Given the description of an element on the screen output the (x, y) to click on. 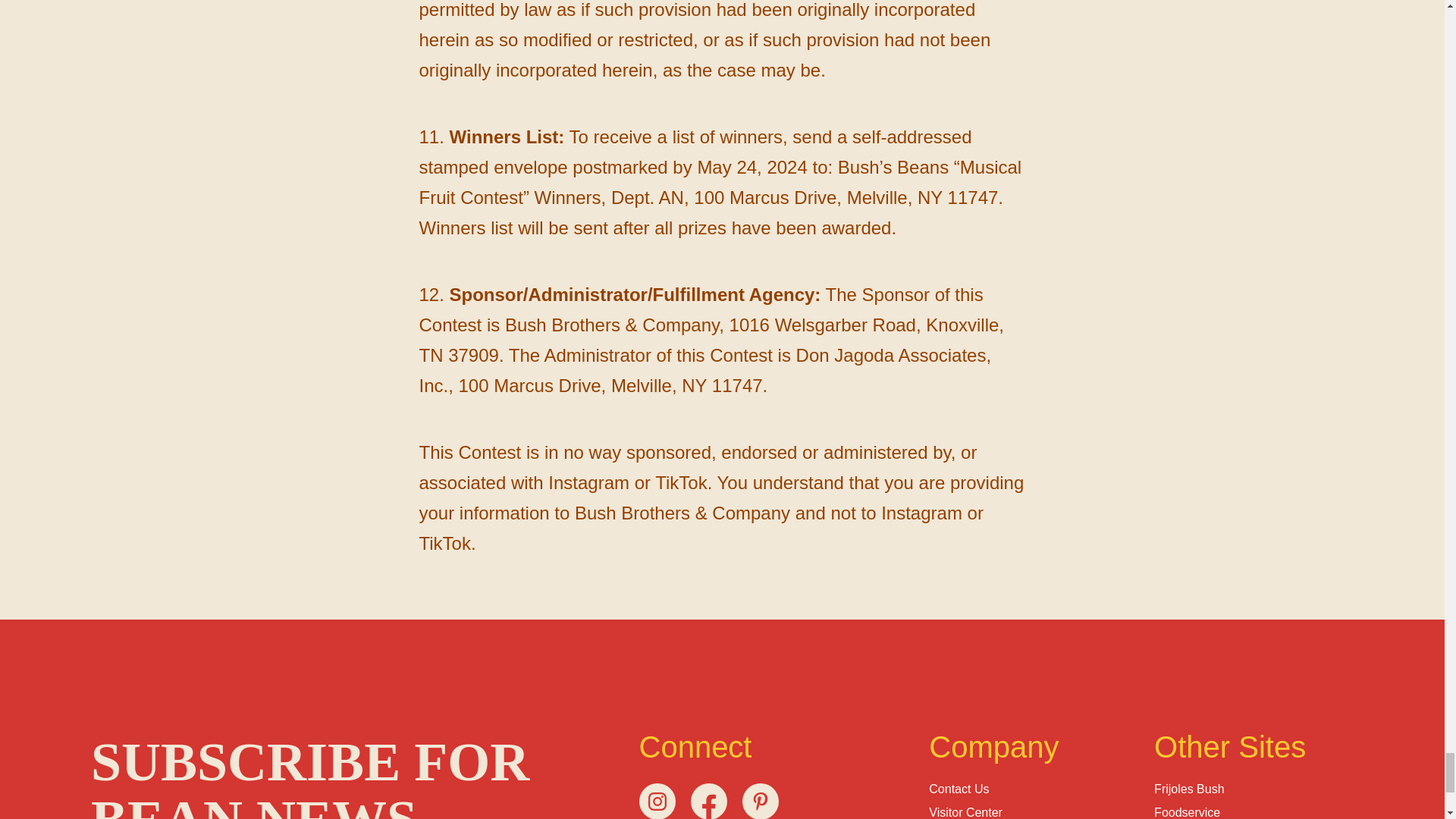
Instagram (657, 800)
Pinterest (759, 800)
Facebook (708, 800)
